Given the description of an element on the screen output the (x, y) to click on. 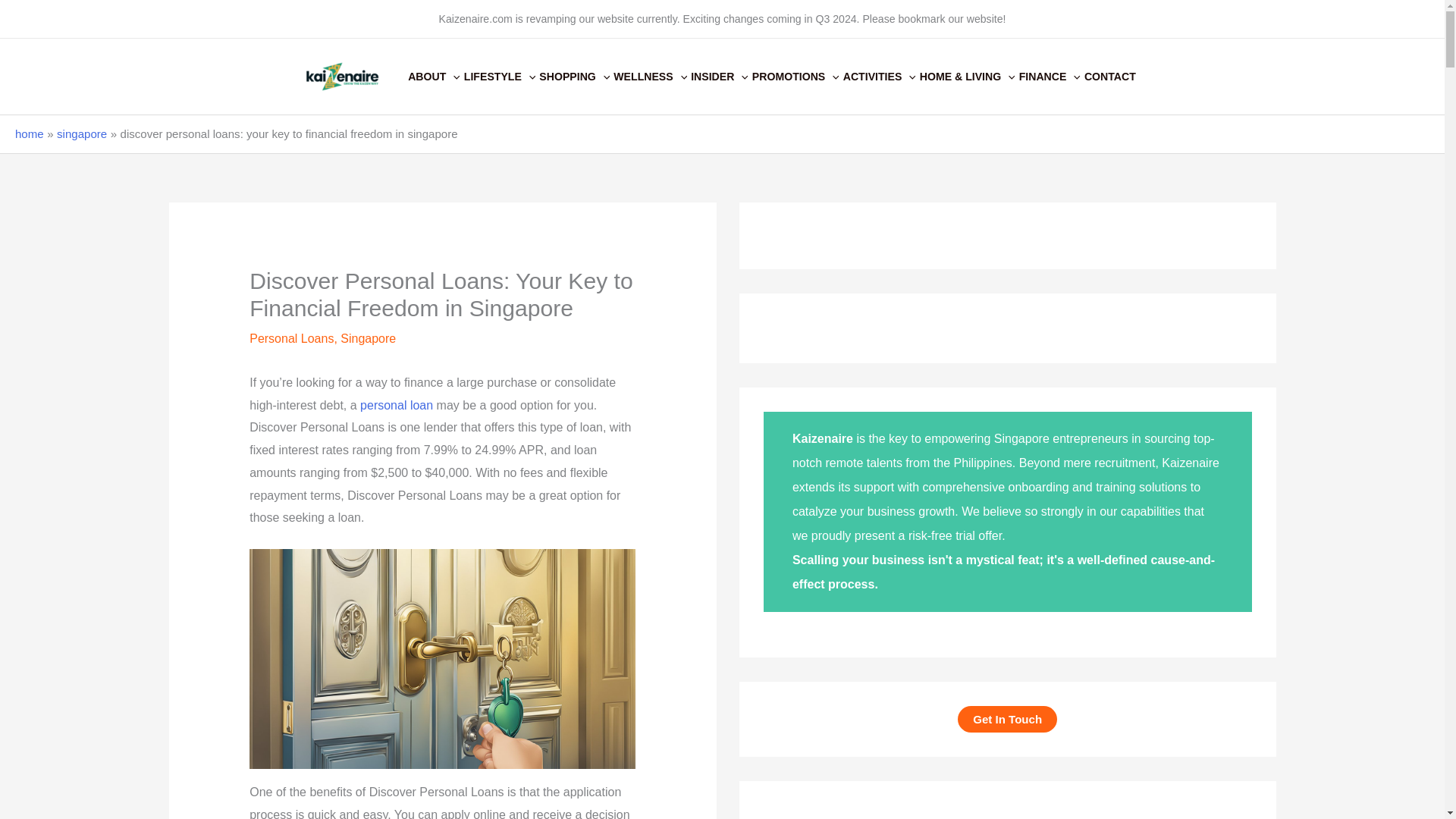
LIFESTYLE (502, 76)
